Given the description of an element on the screen output the (x, y) to click on. 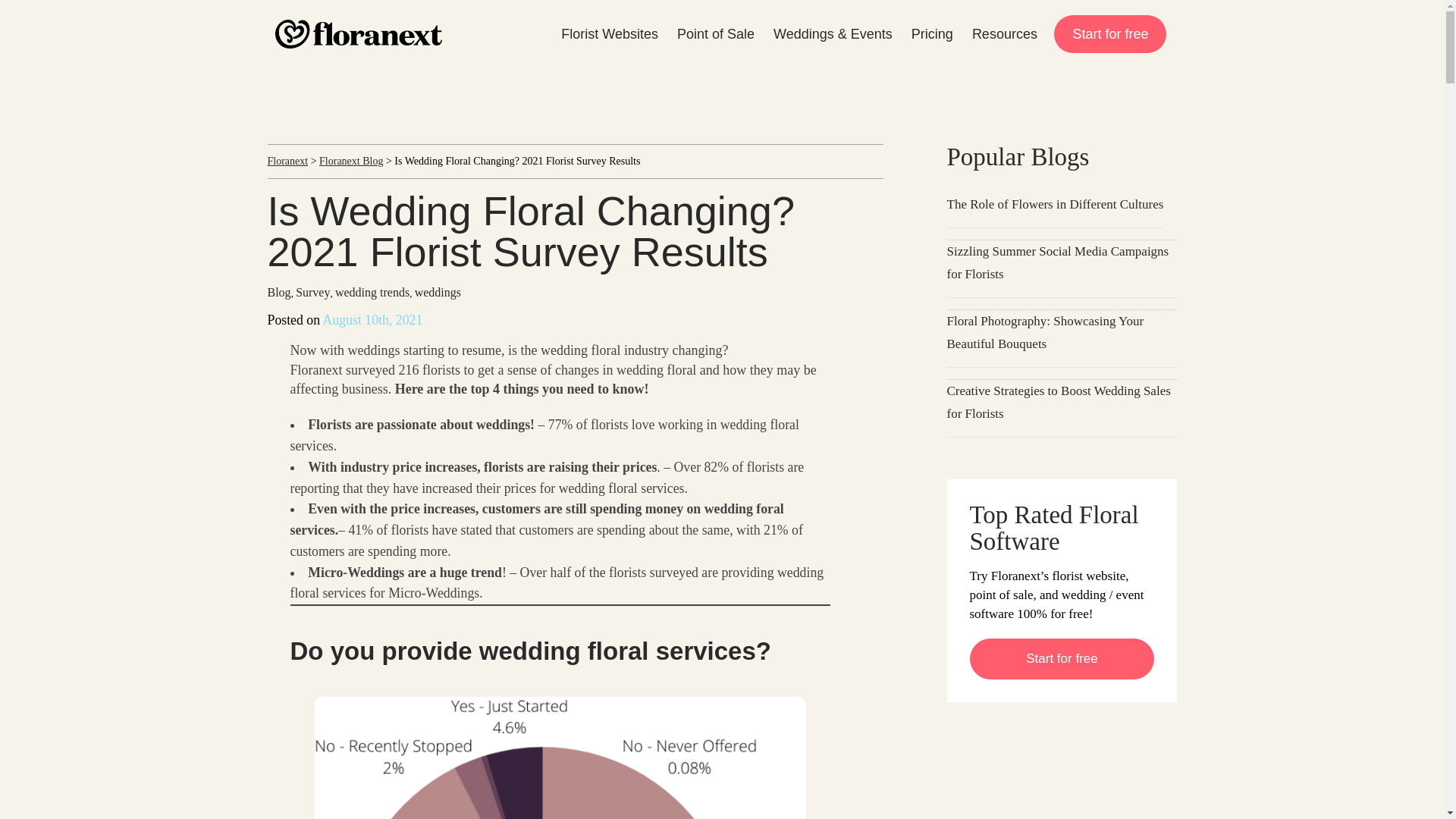
Floranext (286, 161)
Blog (277, 291)
Floranext Blog (350, 161)
Survey (312, 291)
Pricing (931, 34)
Florist Websites (609, 34)
Point of Sale (714, 34)
Resources (1004, 34)
Start for free (1110, 34)
